Given the description of an element on the screen output the (x, y) to click on. 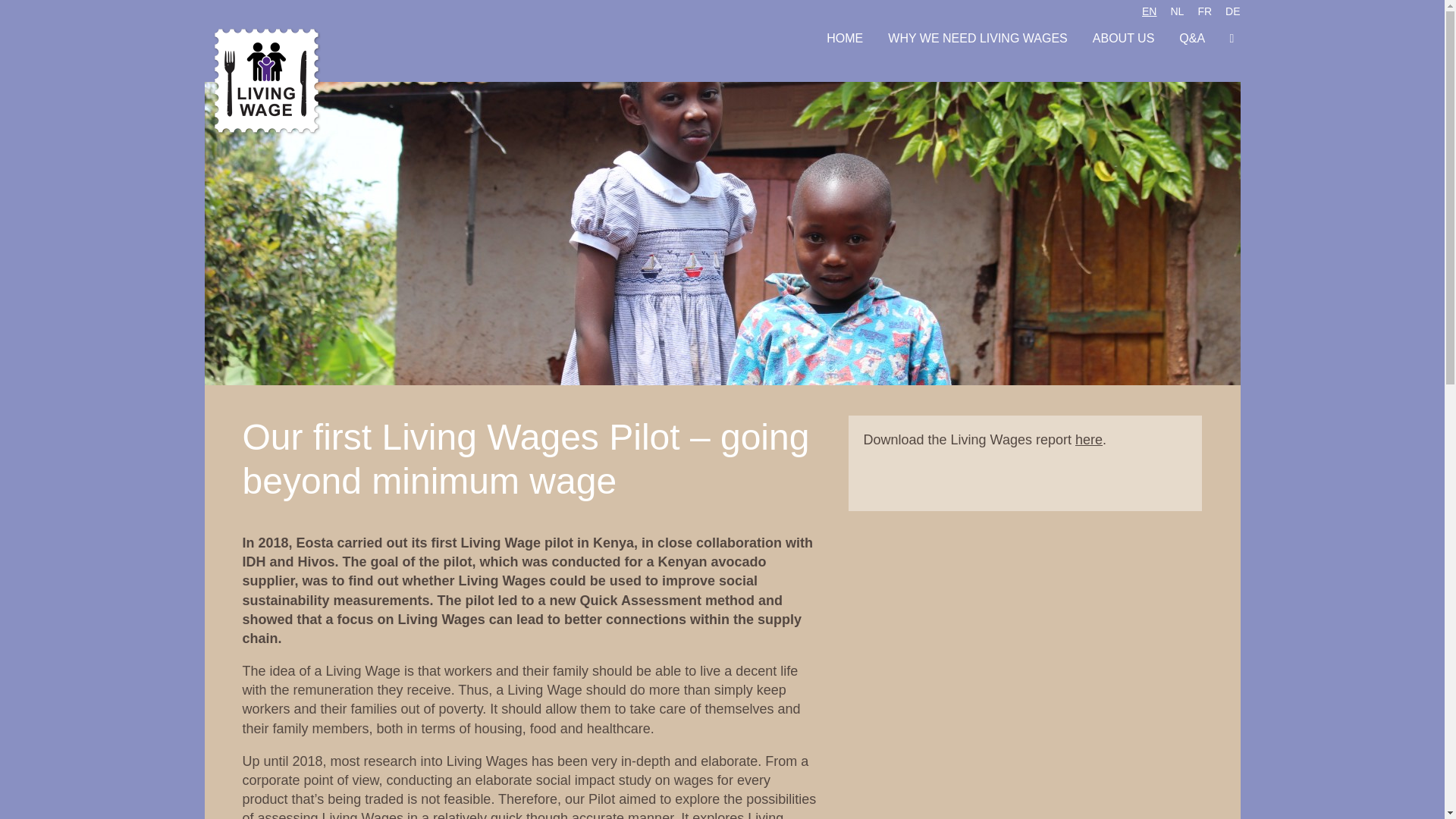
ABOUT US (1123, 38)
FR (1203, 10)
here (1088, 439)
WHY WE NEED LIVING WAGES (977, 38)
Onze eerste Leefbaar Loon pilot - het minimumloon voorbij (1176, 10)
DE (1232, 10)
EN (1148, 10)
NL (1176, 10)
HOME (844, 38)
